Given the description of an element on the screen output the (x, y) to click on. 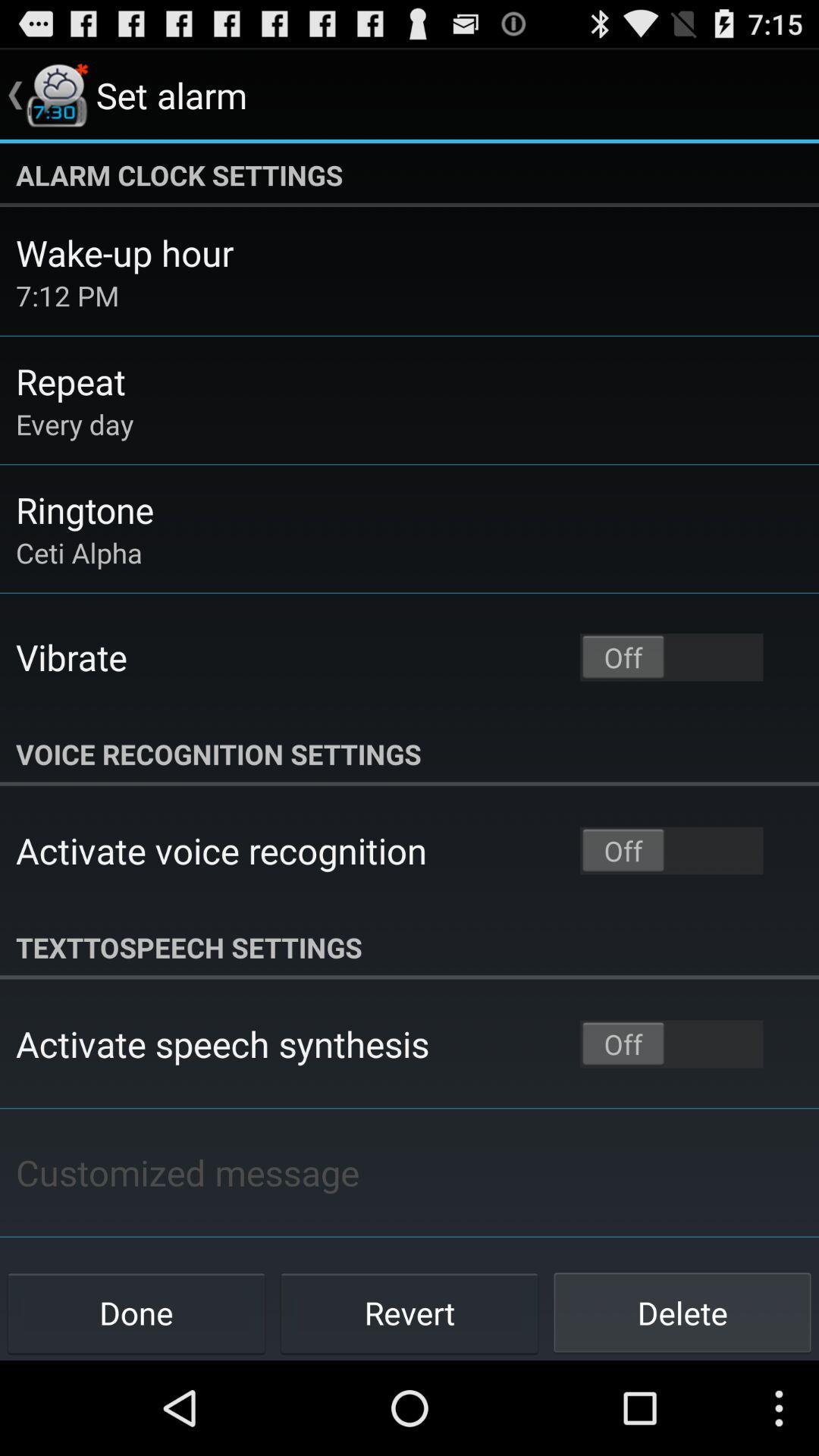
tap the app above every day app (70, 381)
